Given the description of an element on the screen output the (x, y) to click on. 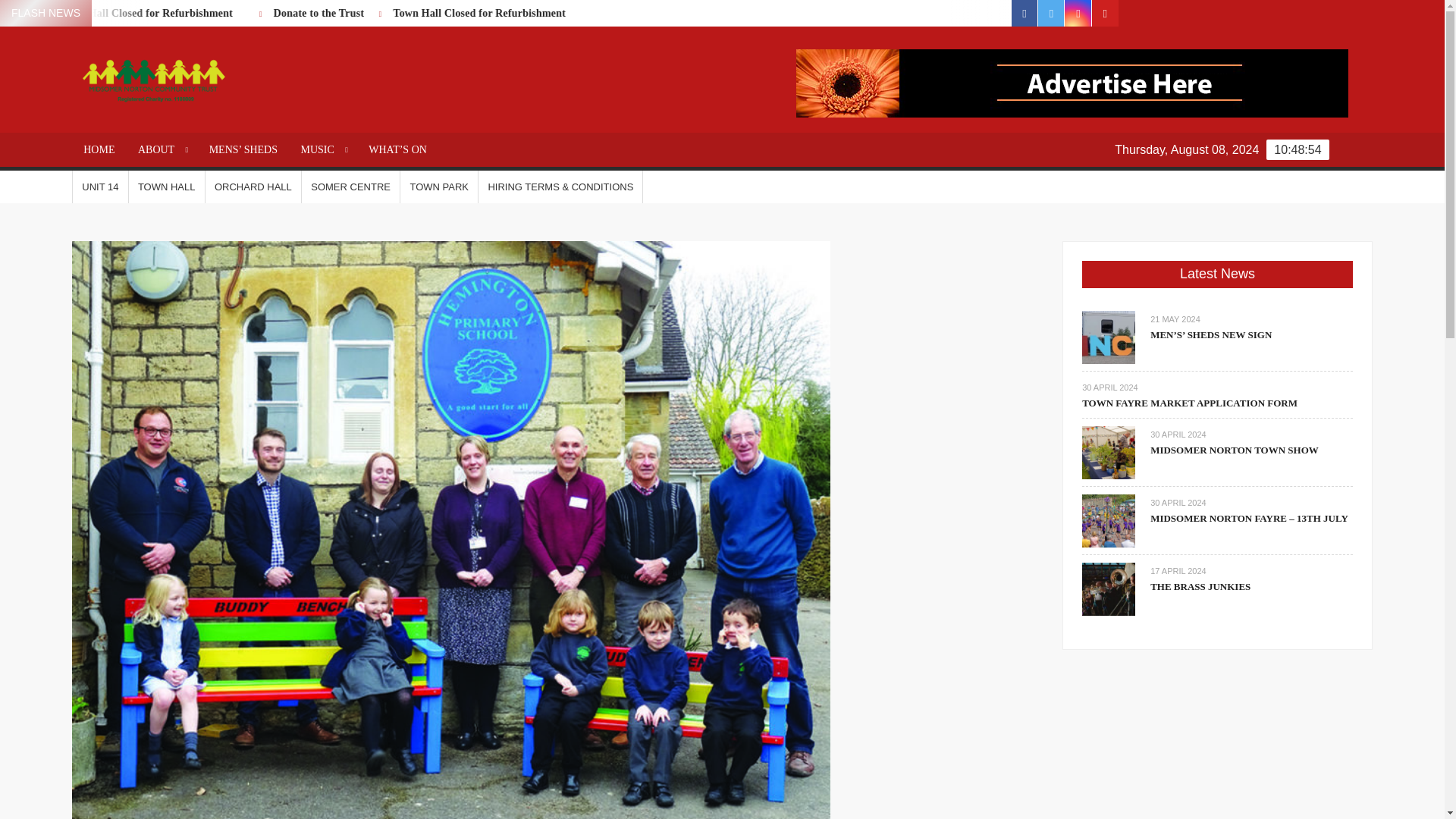
youtube (1105, 13)
Town Hall Closed for Refurbishment (533, 12)
MIDSOMER NORTON COMMUNITY TRUST (344, 147)
Donate to the Trust (374, 12)
Town Hall Closed for Refurbishment (186, 12)
Donate to the Trust (43, 12)
facebook (1024, 13)
Donate to the Trust (36, 12)
